Given the description of an element on the screen output the (x, y) to click on. 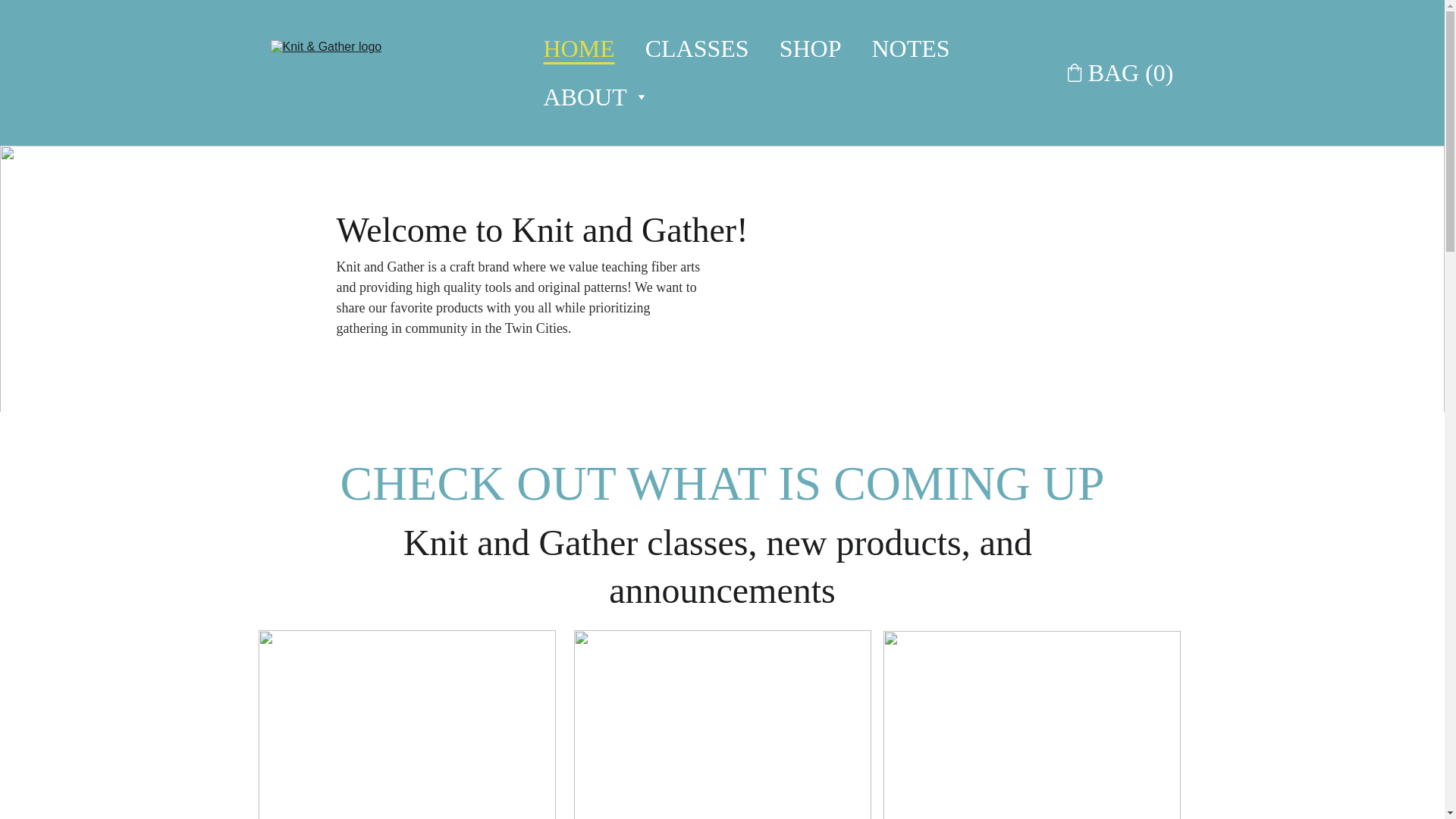
ABOUT (584, 96)
Go to cart (1119, 71)
NOTES (909, 48)
SHOP (809, 48)
HOME (578, 48)
CLASSES (697, 48)
